Given the description of an element on the screen output the (x, y) to click on. 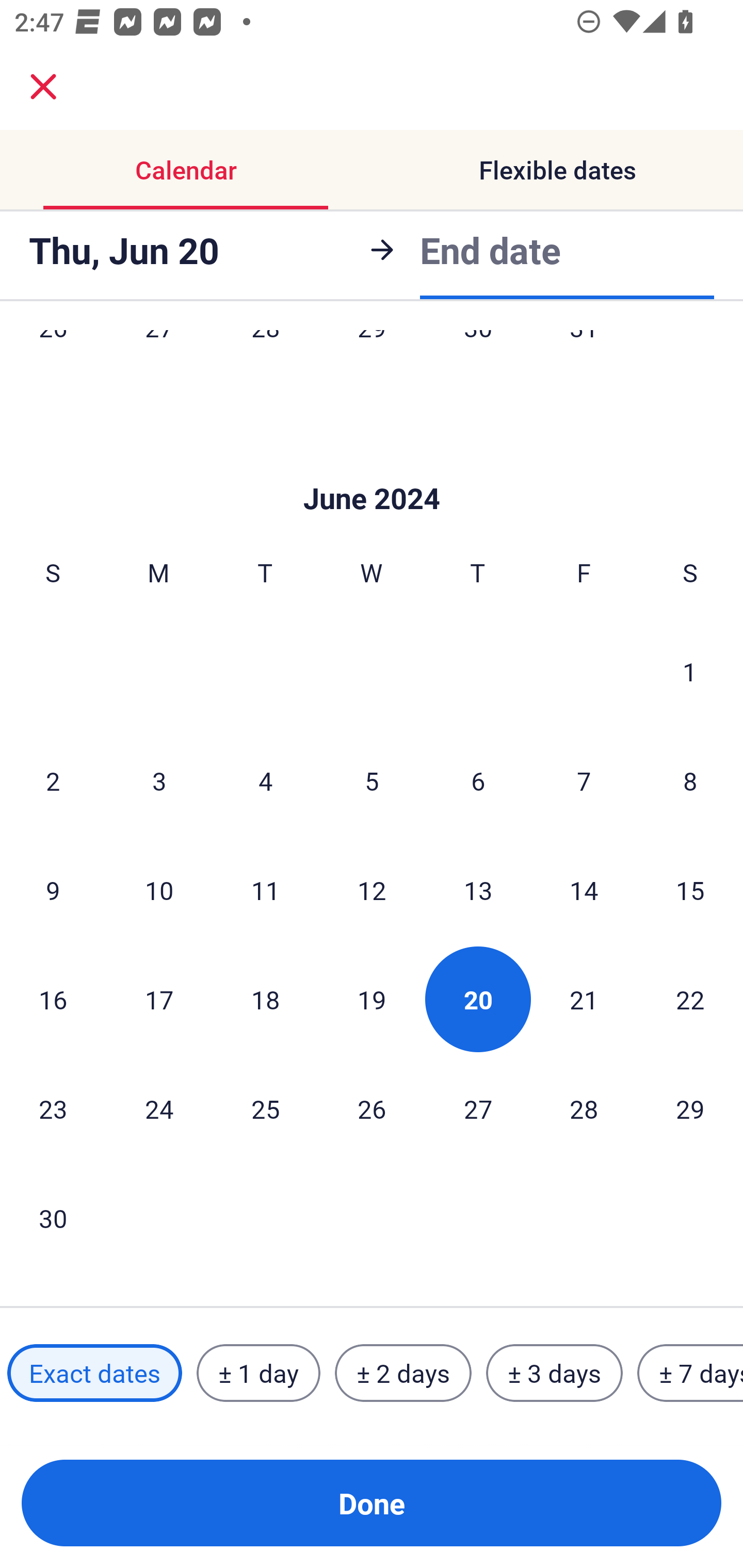
close. (43, 86)
Flexible dates (557, 170)
End date (489, 246)
Skip to Done (371, 467)
1 Saturday, June 1, 2024 (689, 670)
2 Sunday, June 2, 2024 (53, 780)
3 Monday, June 3, 2024 (159, 780)
4 Tuesday, June 4, 2024 (265, 780)
5 Wednesday, June 5, 2024 (371, 780)
6 Thursday, June 6, 2024 (477, 780)
7 Friday, June 7, 2024 (584, 780)
8 Saturday, June 8, 2024 (690, 780)
9 Sunday, June 9, 2024 (53, 889)
10 Monday, June 10, 2024 (159, 889)
11 Tuesday, June 11, 2024 (265, 889)
12 Wednesday, June 12, 2024 (371, 889)
13 Thursday, June 13, 2024 (477, 889)
14 Friday, June 14, 2024 (584, 889)
15 Saturday, June 15, 2024 (690, 889)
16 Sunday, June 16, 2024 (53, 999)
17 Monday, June 17, 2024 (159, 999)
18 Tuesday, June 18, 2024 (265, 999)
19 Wednesday, June 19, 2024 (371, 999)
21 Friday, June 21, 2024 (584, 999)
22 Saturday, June 22, 2024 (690, 999)
23 Sunday, June 23, 2024 (53, 1108)
24 Monday, June 24, 2024 (159, 1108)
25 Tuesday, June 25, 2024 (265, 1108)
26 Wednesday, June 26, 2024 (371, 1108)
27 Thursday, June 27, 2024 (477, 1108)
28 Friday, June 28, 2024 (584, 1108)
29 Saturday, June 29, 2024 (690, 1108)
30 Sunday, June 30, 2024 (53, 1218)
Exact dates (94, 1372)
± 1 day (258, 1372)
± 2 days (403, 1372)
± 3 days (553, 1372)
± 7 days (690, 1372)
Done (371, 1502)
